Given the description of an element on the screen output the (x, y) to click on. 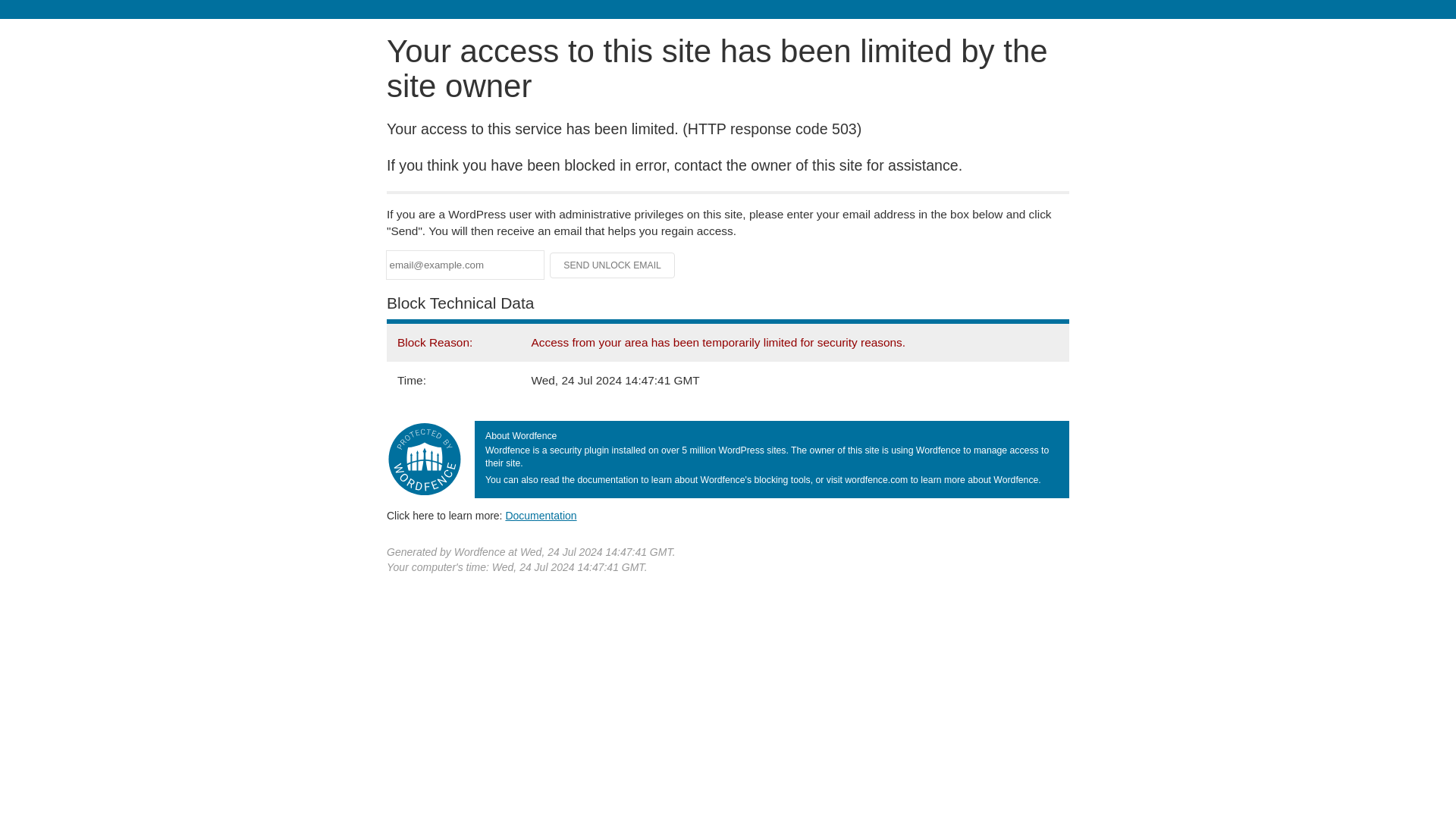
Documentation (540, 515)
Send Unlock Email (612, 265)
Send Unlock Email (612, 265)
